Given the description of an element on the screen output the (x, y) to click on. 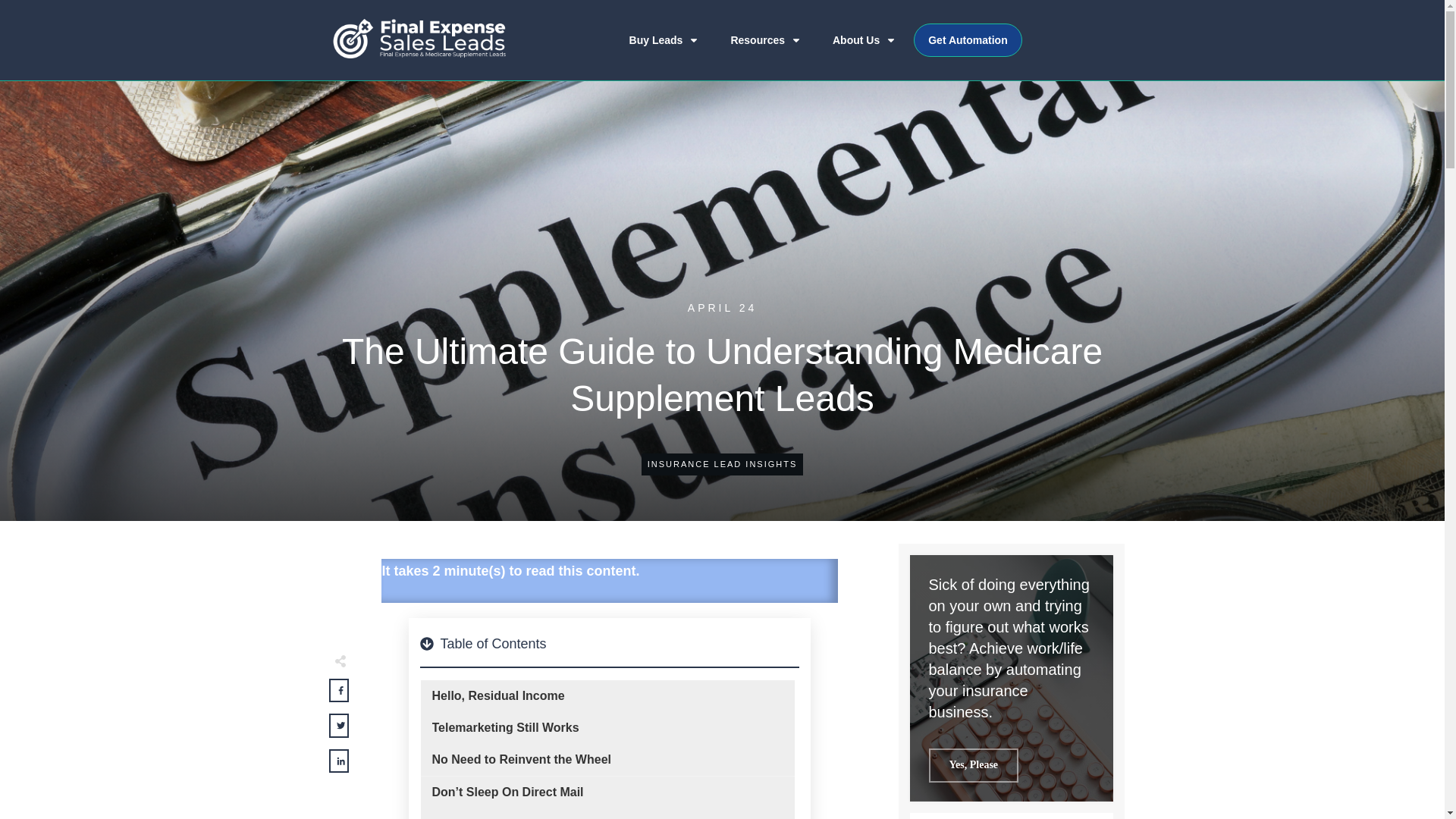
INSURANCE LEAD INSIGHTS (722, 463)
Insurance Lead Insights (722, 463)
Medicare Supplement Leads: The Future Is Here (571, 817)
No Need to Reinvent the Wheel (521, 759)
No Need to Reinvent the Wheel (521, 759)
Telemarketing Still Works (505, 727)
Resources (766, 39)
Get Automation (967, 39)
Hello, Residual Income (498, 695)
Hello, Residual Income (498, 695)
